Given the description of an element on the screen output the (x, y) to click on. 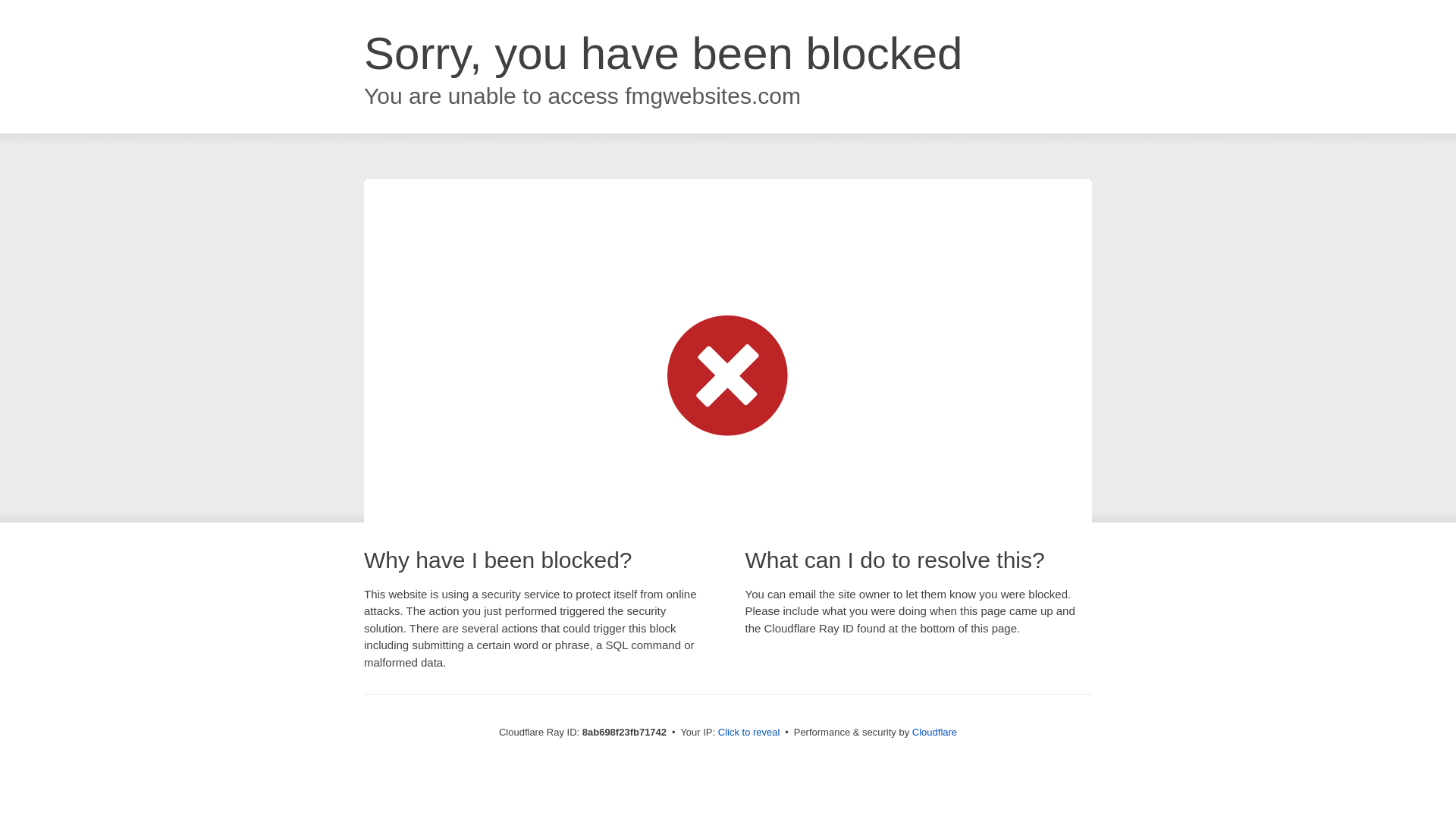
Click to reveal (748, 732)
Cloudflare (934, 731)
